Given the description of an element on the screen output the (x, y) to click on. 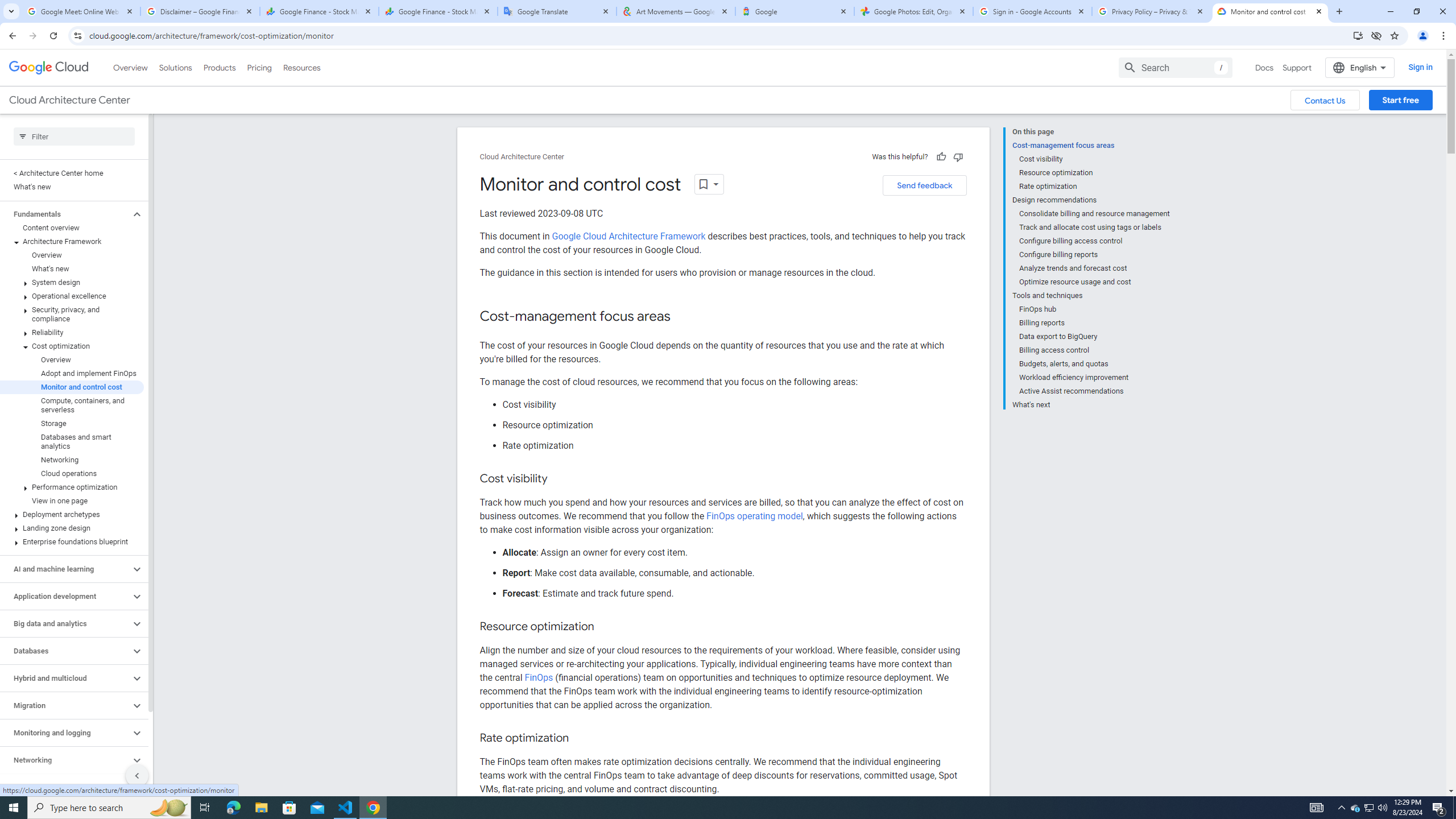
Storage (72, 423)
Networking (64, 760)
Big data and analytics (64, 623)
Start free (1400, 100)
Monitoring and logging (64, 732)
Migration (64, 705)
Solutions (175, 67)
Application development (64, 596)
Google Cloud Architecture Framework (628, 235)
English (1359, 67)
Workload efficiency improvement (1094, 377)
Landing zone design (72, 527)
